Given the description of an element on the screen output the (x, y) to click on. 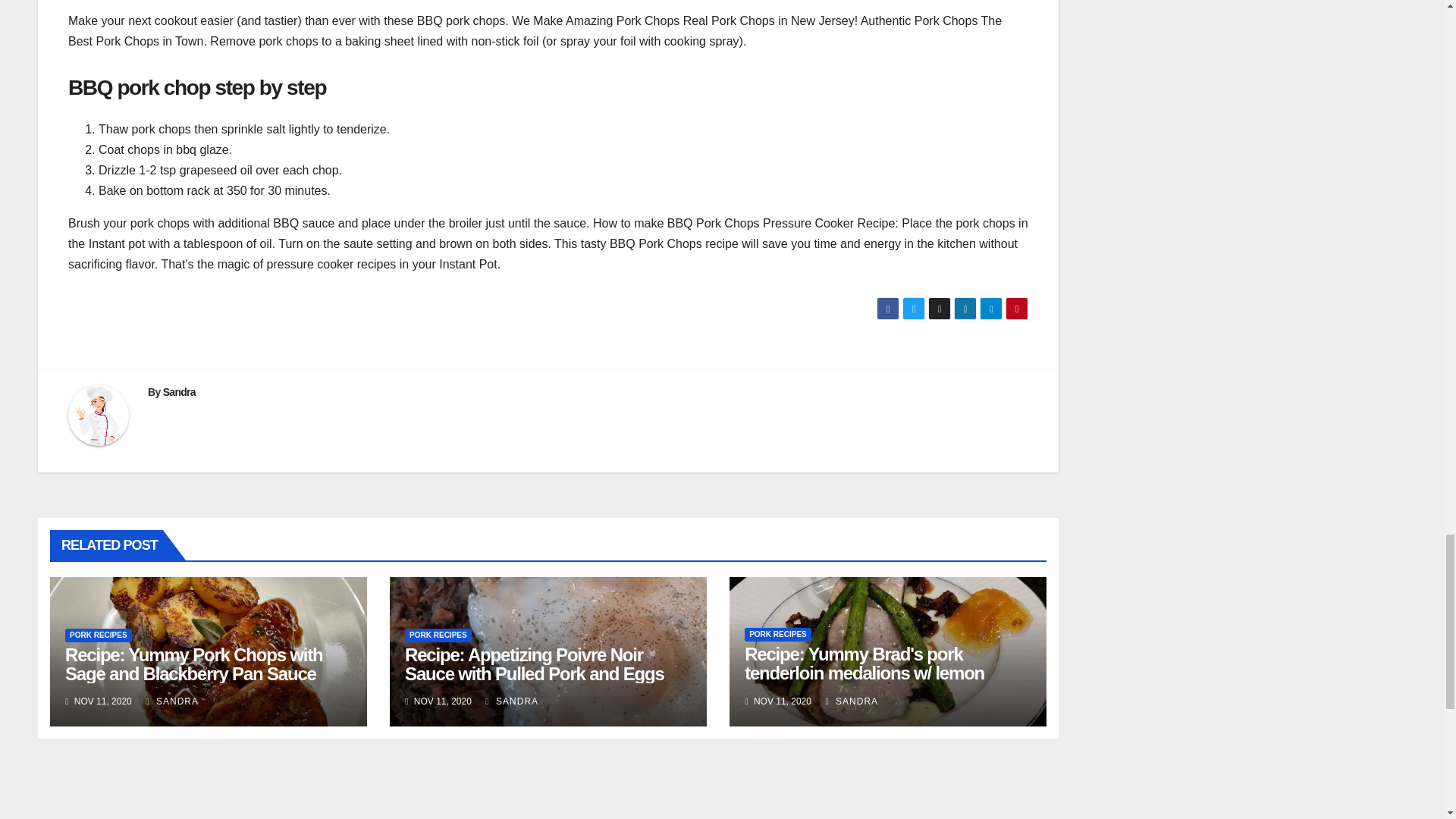
PORK RECIPES (777, 634)
SANDRA (851, 701)
Recipe: Yummy Pork Chops with Sage and Blackberry Pan Sauce (194, 663)
SANDRA (171, 701)
PORK RECIPES (437, 635)
PORK RECIPES (98, 635)
Sandra (179, 391)
SANDRA (511, 701)
